Given the description of an element on the screen output the (x, y) to click on. 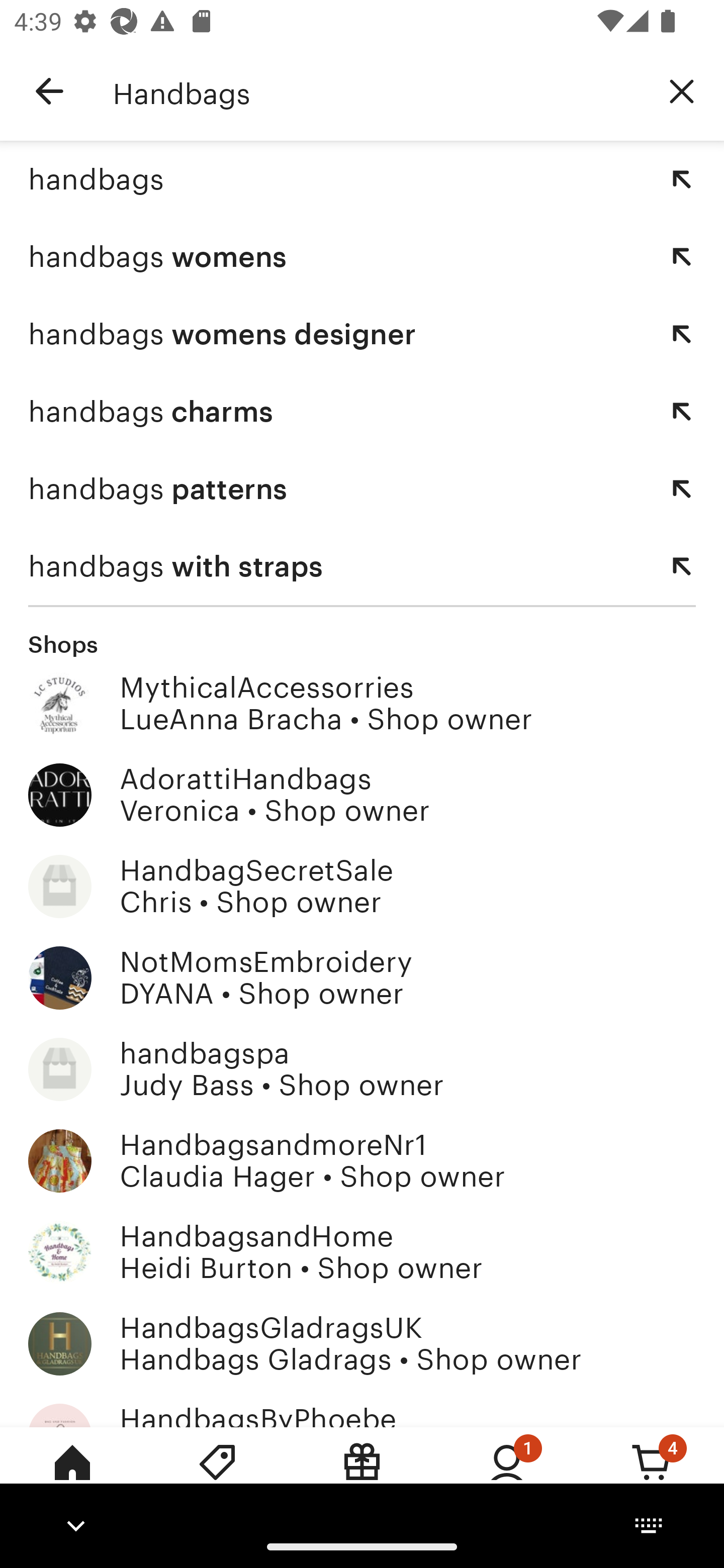
Navigate up (49, 91)
Clear query (681, 90)
Handbags (375, 91)
Populate the search field with handbags suggestion (681, 179)
Deals (216, 1475)
Gift Mode (361, 1475)
You, 1 new notification (506, 1475)
Cart, 4 new notifications (651, 1475)
